Given the description of an element on the screen output the (x, y) to click on. 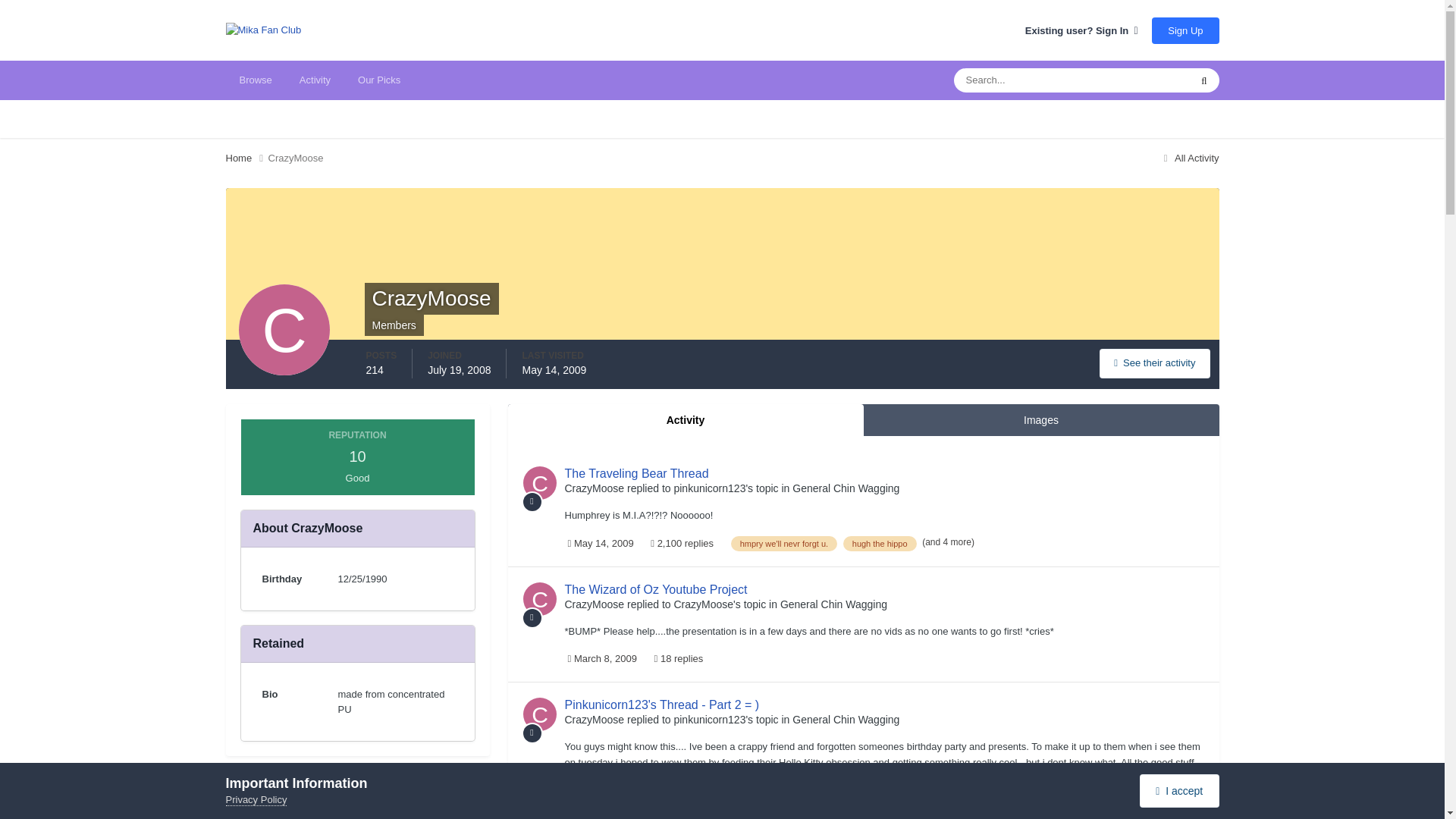
Our Picks (378, 79)
Go to CrazyMoose's profile (539, 482)
Browse (255, 79)
Go to pinkunicorn123's profile (708, 488)
Find other content tagged with 'hugh the hippo' (880, 543)
CrazyMoose's Content (1154, 363)
CrazyMoose (295, 157)
Sign Up (1184, 29)
All Activity (1188, 157)
Post (531, 502)
 See their activity (1154, 363)
Activity (314, 79)
Find other content tagged with 'hmpry we'll nevr forgt u.' (783, 543)
Activity (685, 419)
Home (246, 158)
